Given the description of an element on the screen output the (x, y) to click on. 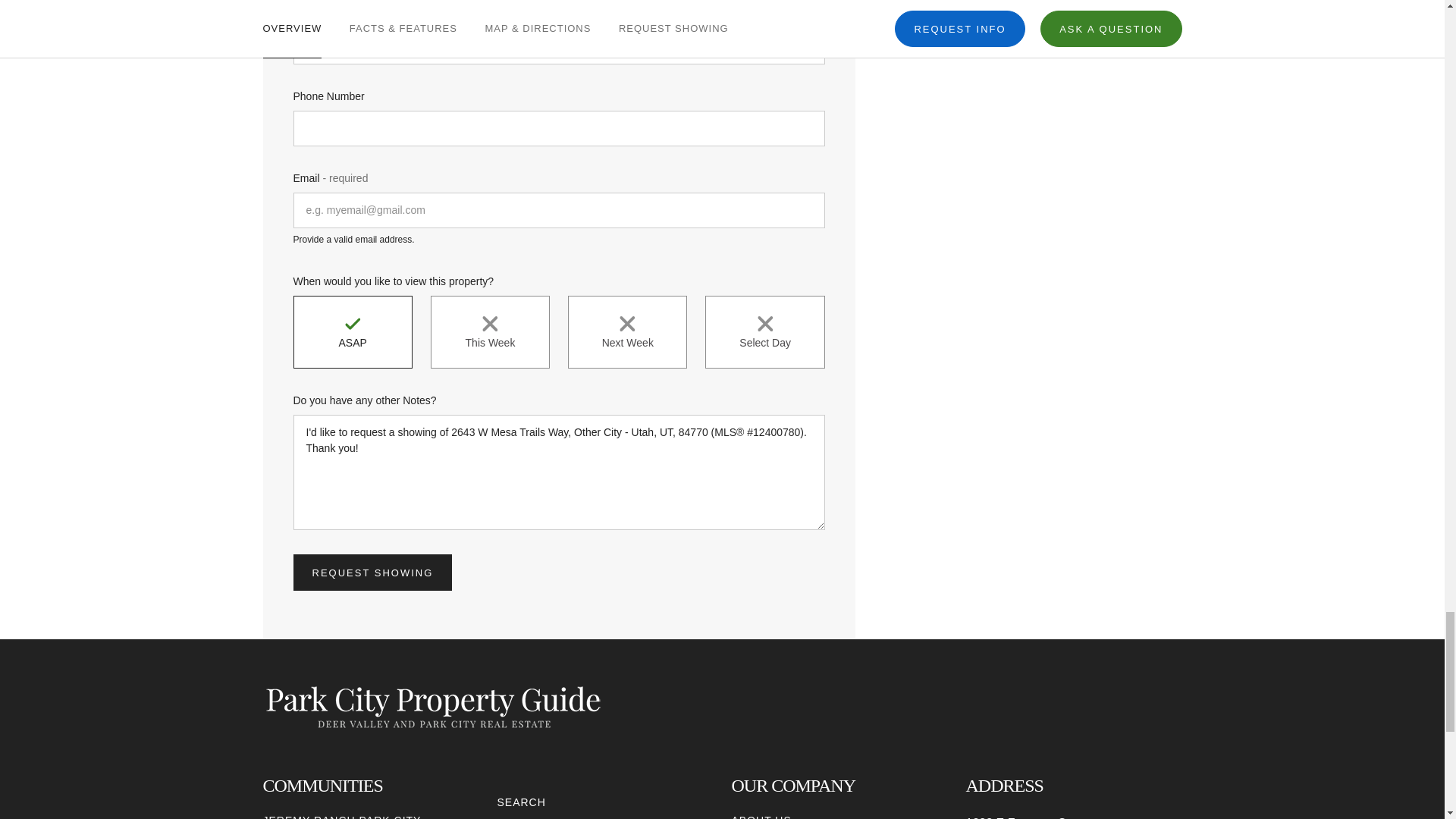
Next Week (627, 331)
ASAP (352, 331)
This Week (490, 331)
